Given the description of an element on the screen output the (x, y) to click on. 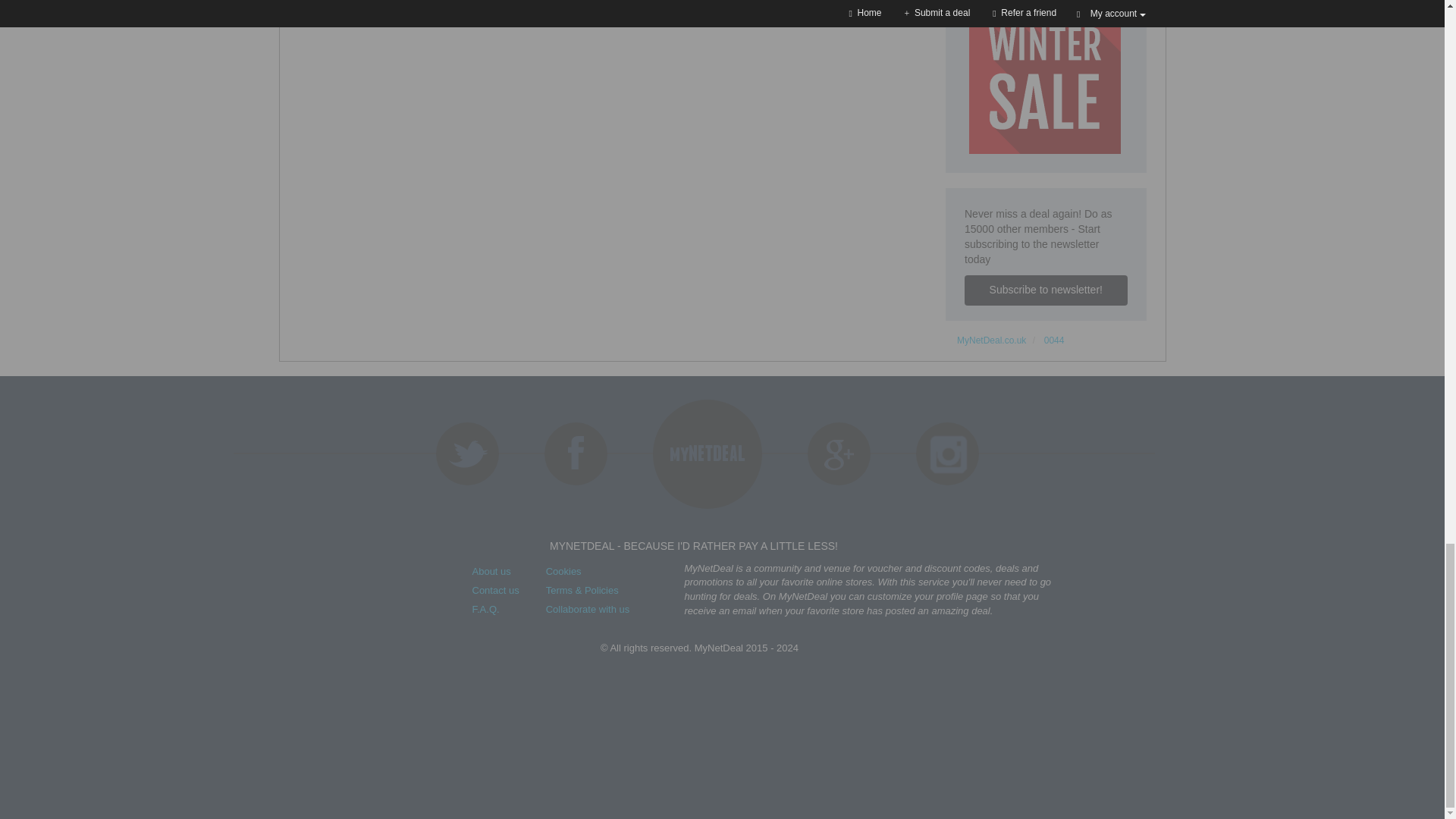
Winter Sale (1045, 77)
